Given the description of an element on the screen output the (x, y) to click on. 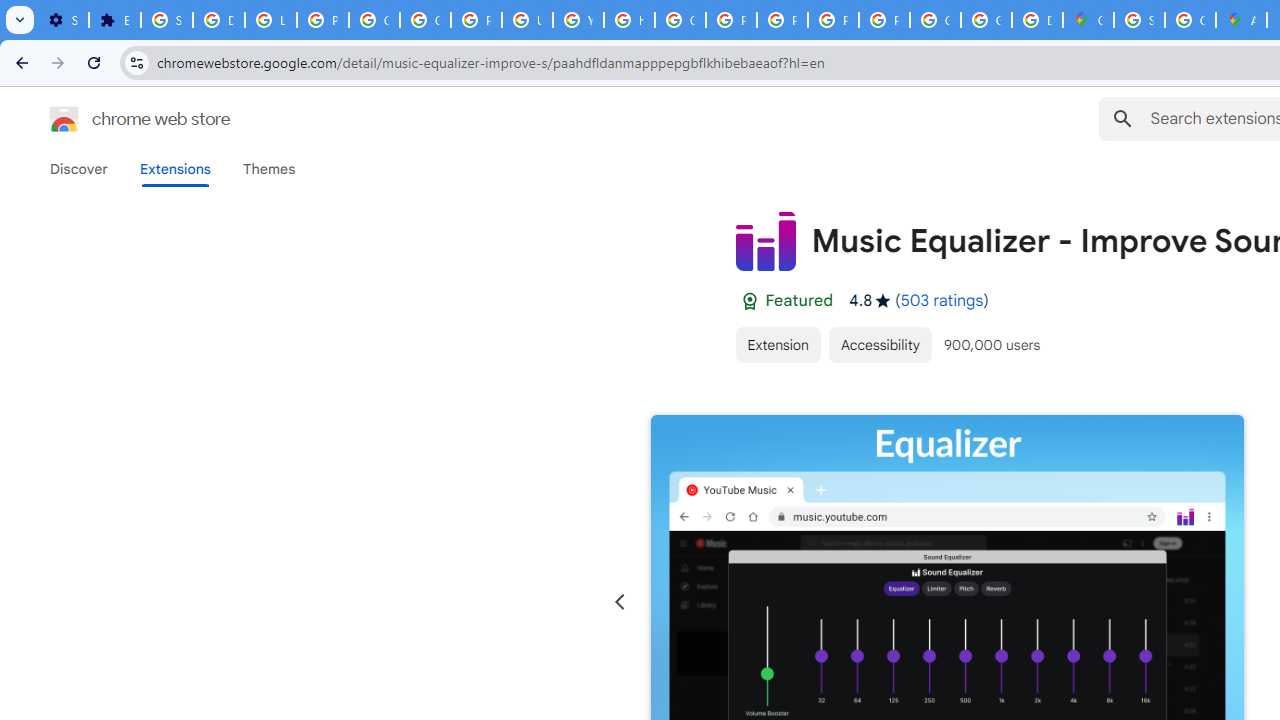
Google Account Help (424, 20)
YouTube (578, 20)
Create your Google Account (1189, 20)
Settings - On startup (63, 20)
Previous slide (619, 601)
Learn how to find your photos - Google Photos Help (270, 20)
